Given the description of an element on the screen output the (x, y) to click on. 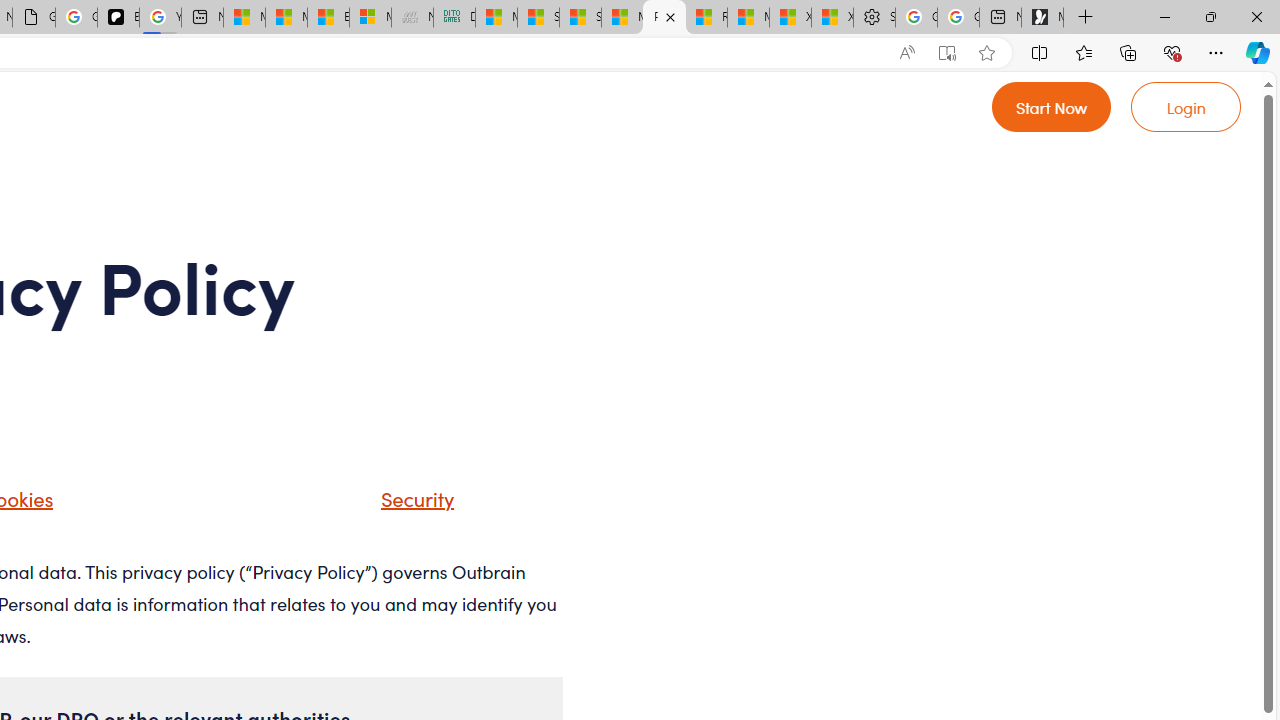
Security (411, 497)
Go to Register (1051, 106)
